Given the description of an element on the screen output the (x, y) to click on. 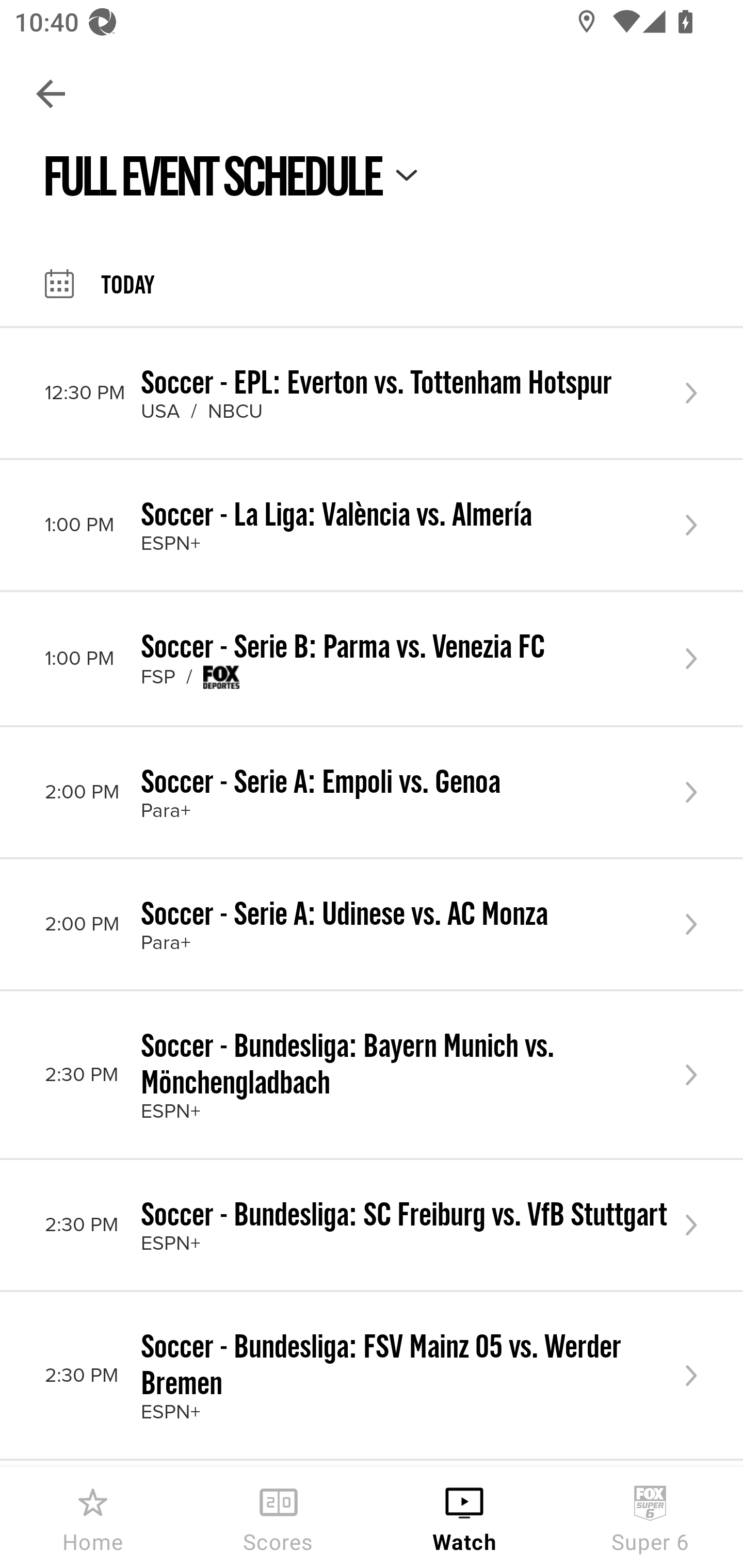
Navigate up (50, 93)
FULL EVENT SCHEDULE (230, 174)
TODAY (99, 283)
2:00 PM Soccer - Serie A: Empoli vs. Genoa Para+ (371, 792)
Home (92, 1517)
Scores (278, 1517)
Super 6 (650, 1517)
